Given the description of an element on the screen output the (x, y) to click on. 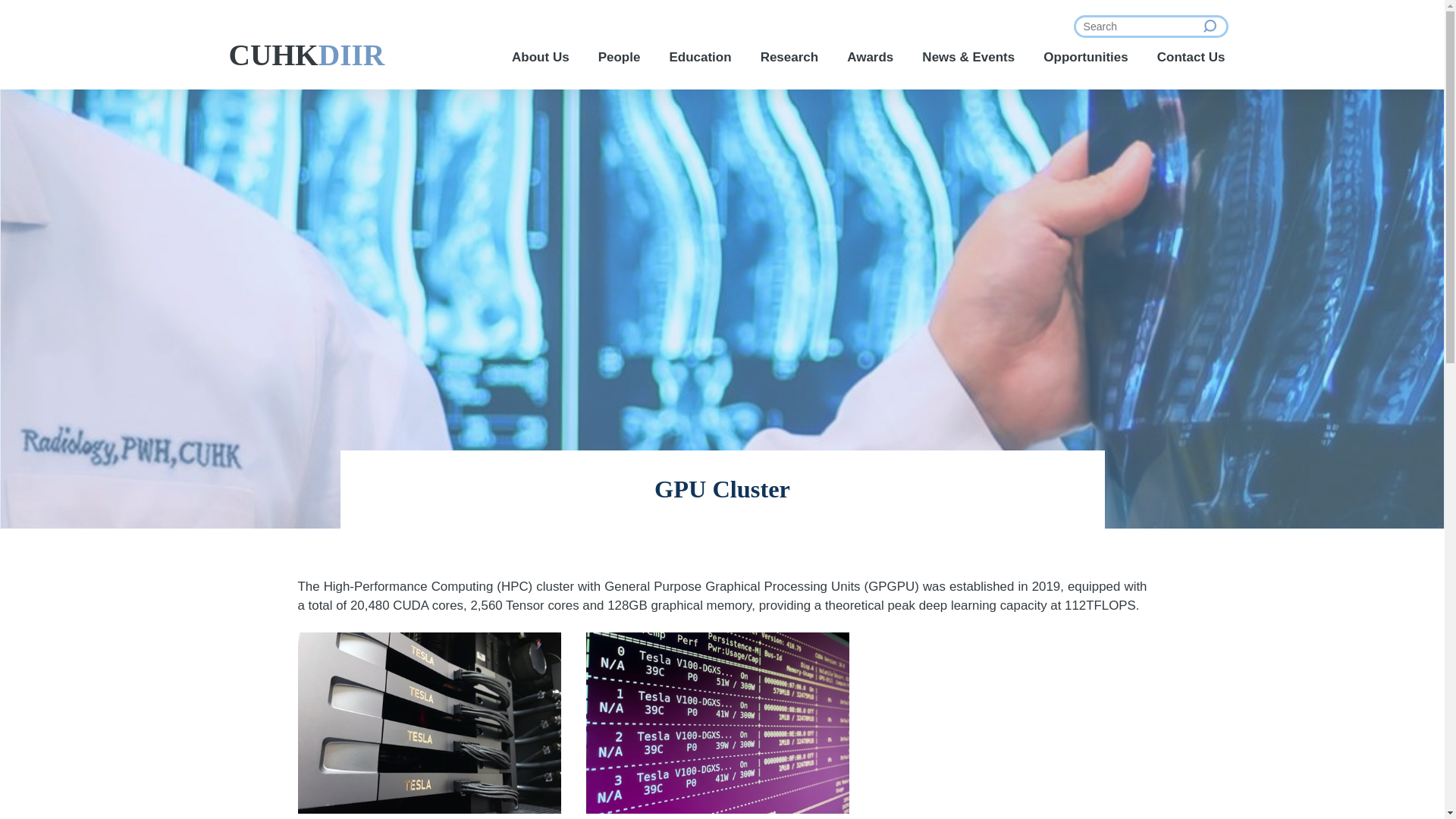
CUHKDIIR (306, 55)
Research (789, 57)
People (619, 57)
Opportunities (1084, 57)
Contact Us (1191, 57)
About Us (540, 57)
Awards (870, 57)
Education (699, 57)
